Given the description of an element on the screen output the (x, y) to click on. 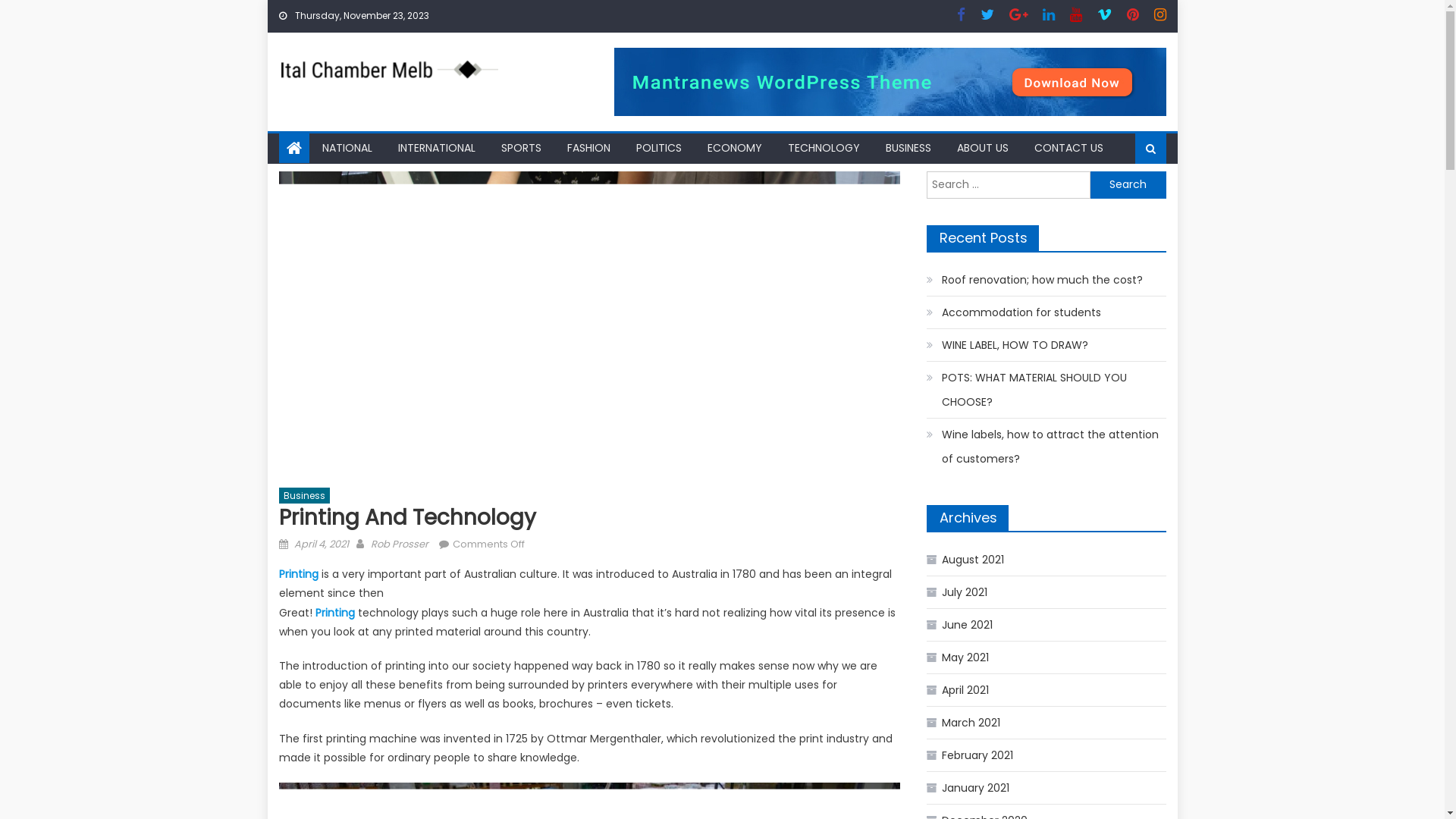
POLITICS Element type: text (658, 147)
February 2021 Element type: text (969, 755)
Search Element type: text (1128, 184)
NATIONAL Element type: text (346, 147)
FASHION Element type: text (588, 147)
January 2021 Element type: text (967, 787)
CONTACT US Element type: text (1067, 147)
June 2021 Element type: text (959, 624)
POTS: WHAT MATERIAL SHOULD YOU CHOOSE? Element type: text (1046, 389)
Roof renovation; how much the cost? Element type: text (1034, 279)
Wine labels, how to attract the attention of customers? Element type: text (1046, 446)
Accommodation for students Element type: text (1013, 312)
BUSINESS Element type: text (907, 147)
Search Element type: text (1128, 196)
April 2021 Element type: text (957, 689)
Business Element type: text (304, 495)
TECHNOLOGY Element type: text (823, 147)
SPORTS Element type: text (520, 147)
July 2021 Element type: text (956, 592)
Skip to content Element type: text (307, 9)
August 2021 Element type: text (965, 559)
WINE LABEL, HOW TO DRAW? Element type: text (1007, 344)
Rob Prosser Element type: text (398, 543)
INTERNATIONAL Element type: text (436, 147)
Printing Element type: text (334, 612)
ECONOMY Element type: text (734, 147)
ABOUT US Element type: text (981, 147)
May 2021 Element type: text (957, 657)
Printing Element type: text (300, 573)
April 4, 2021 Element type: text (321, 543)
March 2021 Element type: text (963, 722)
